Given the description of an element on the screen output the (x, y) to click on. 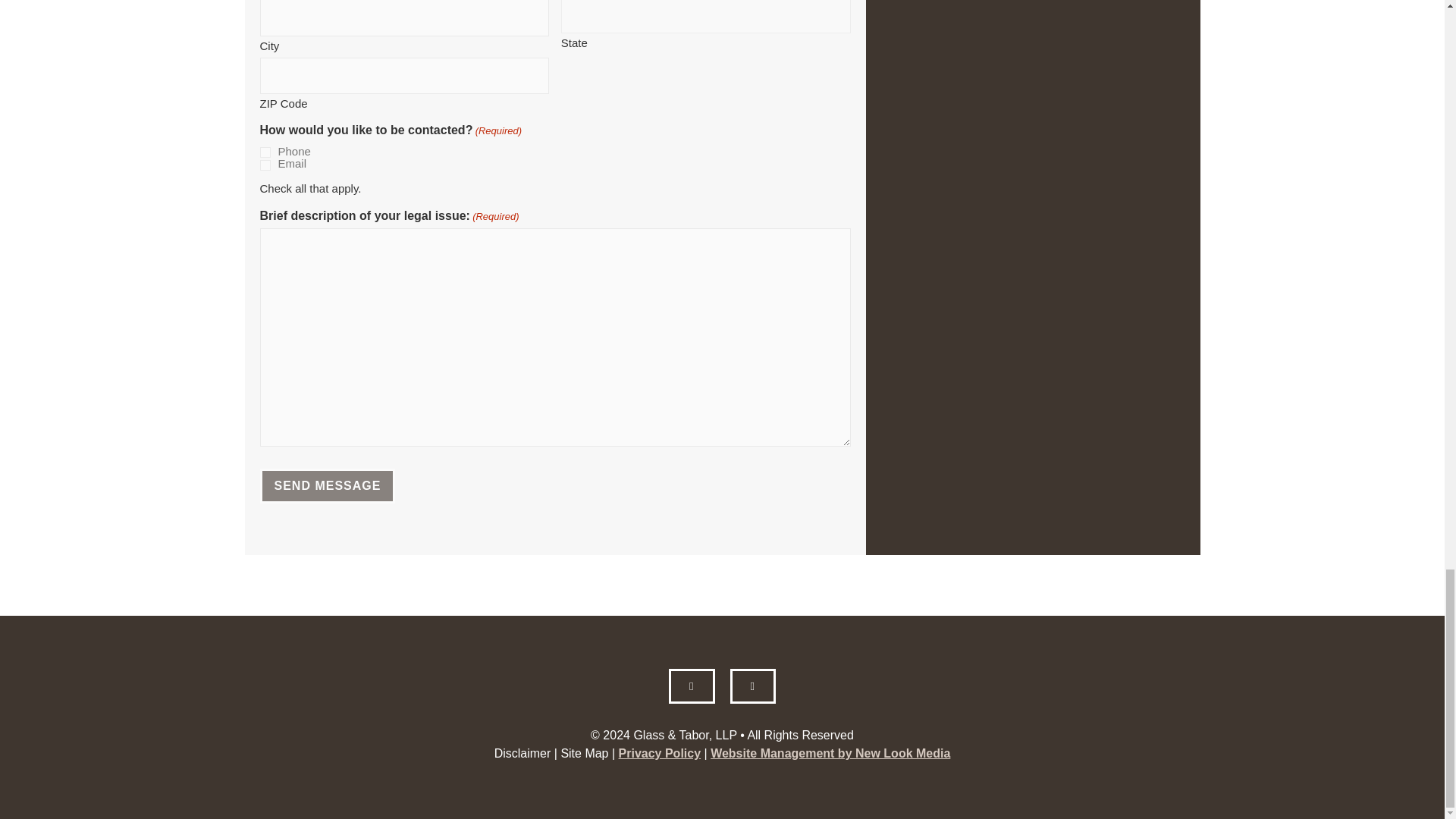
Send Message (326, 485)
